Given the description of an element on the screen output the (x, y) to click on. 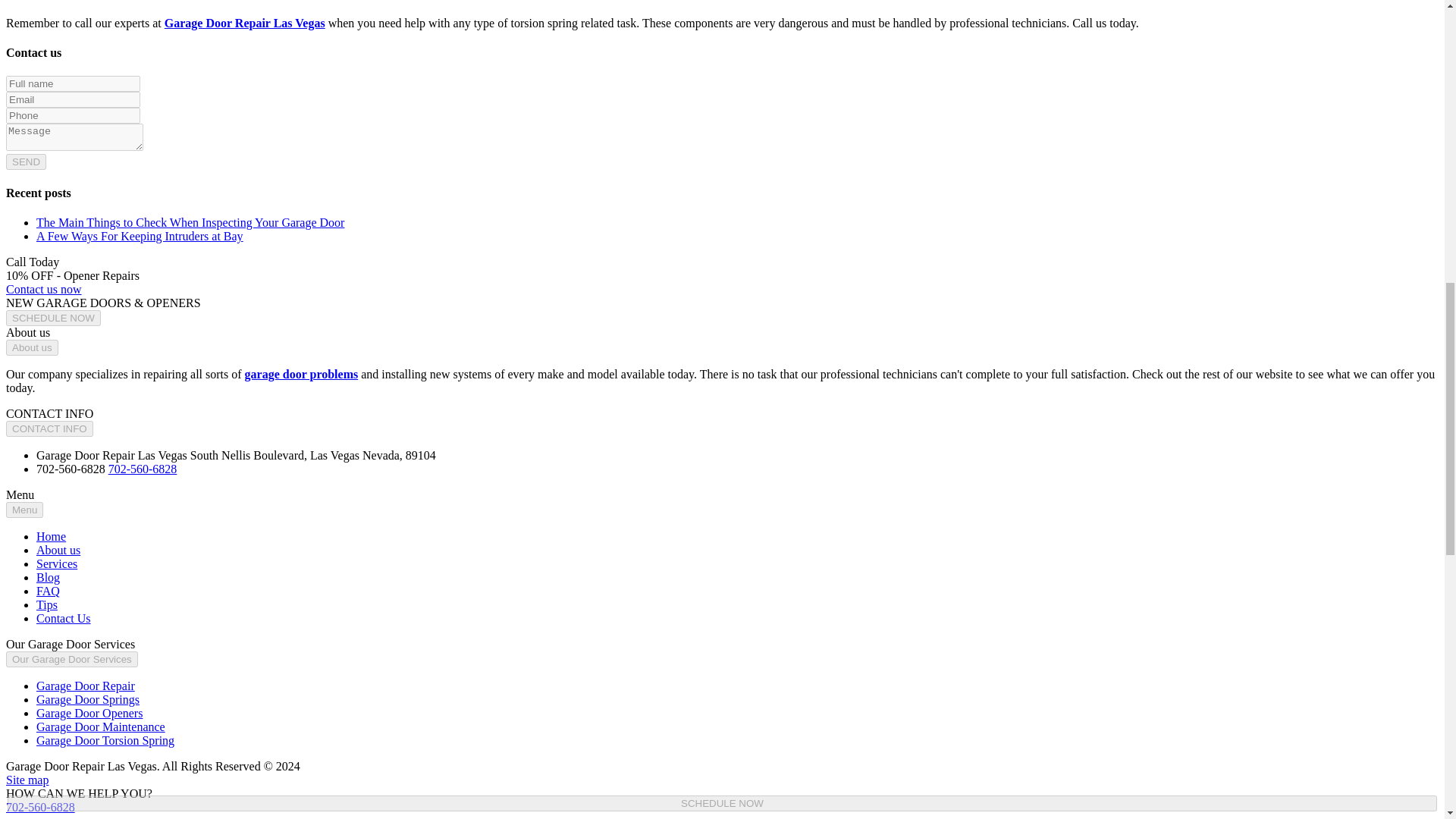
CONTACT INFO (49, 428)
Contact us now (43, 288)
Garage door repair specialists near you (301, 373)
702-560-6828 (142, 468)
The Main Things to Check When Inspecting Your Garage Door (189, 222)
A Few Ways For Keeping Intruders at Bay (139, 236)
About us (31, 347)
SEND (25, 161)
Garage Door Repair Las Vegas (244, 22)
Garage Door Repair Las Vegas (244, 22)
